Given the description of an element on the screen output the (x, y) to click on. 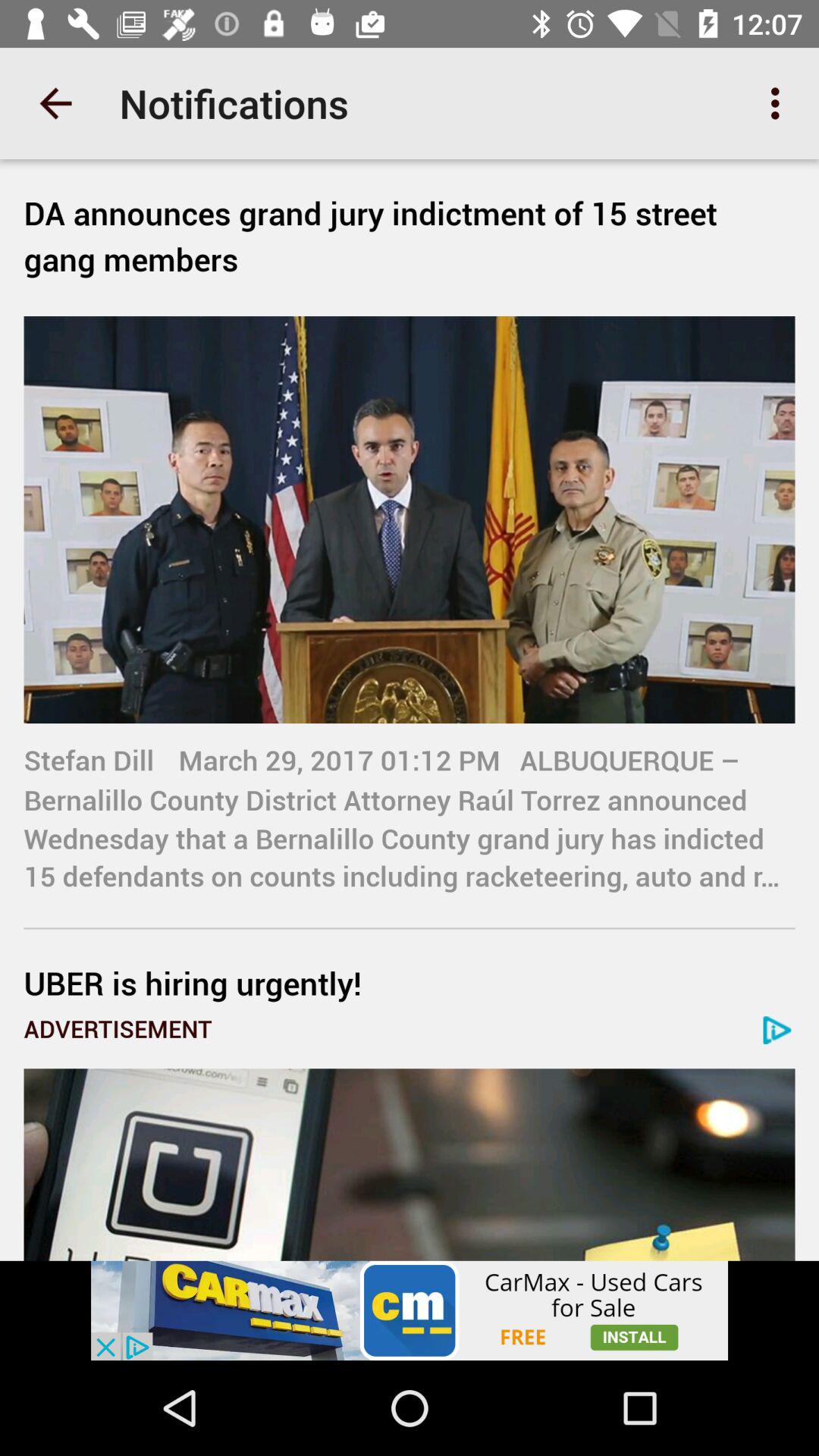
see advertisement (409, 1310)
